Given the description of an element on the screen output the (x, y) to click on. 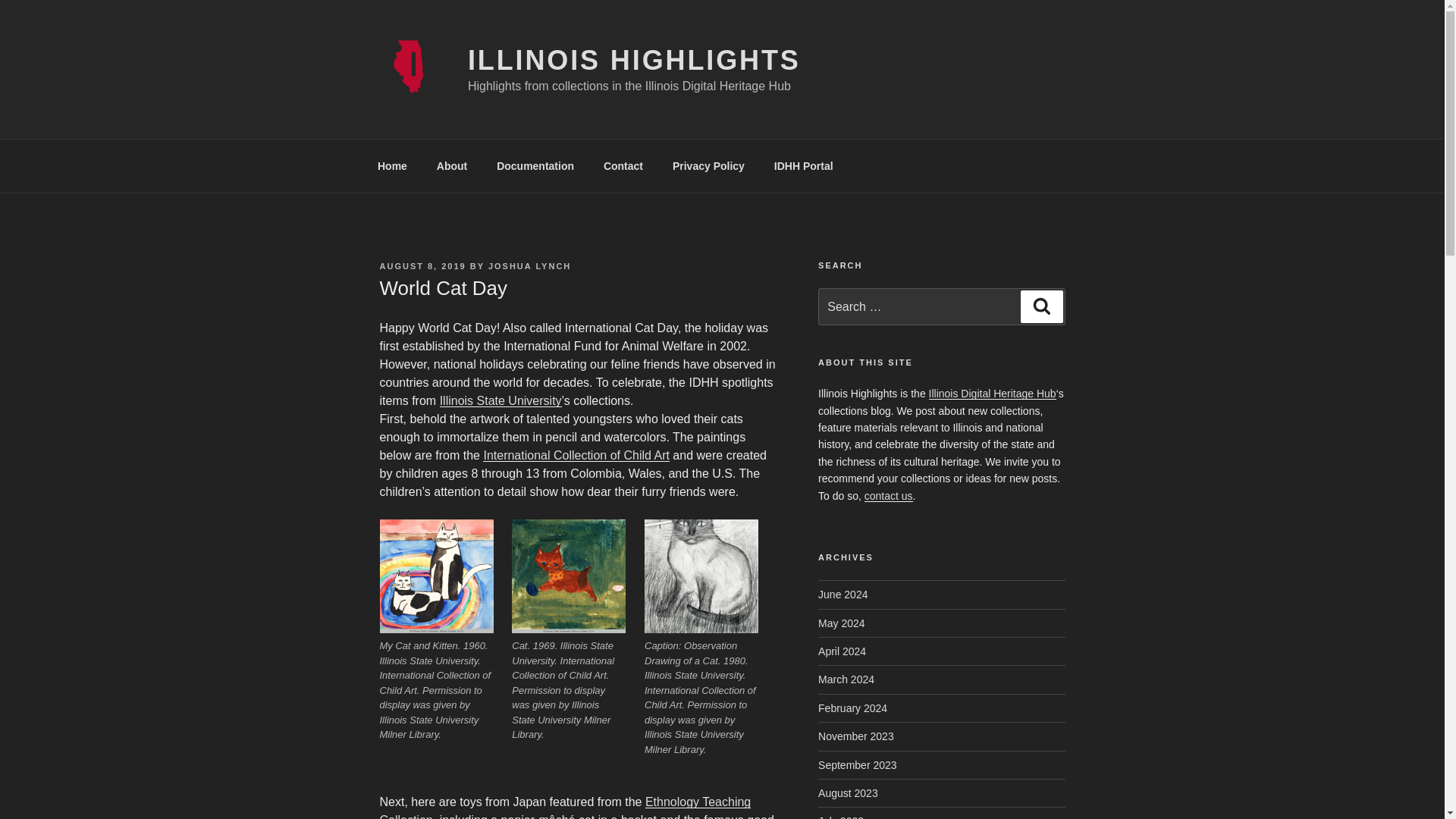
Illinois State University (500, 400)
AUGUST 8, 2019 (421, 266)
Home (392, 165)
About (451, 165)
International Collection of Child Art (575, 454)
Privacy Policy (708, 165)
Search (1041, 306)
JOSHUA LYNCH (528, 266)
June 2024 (842, 594)
contact us (888, 495)
Ethnology Teaching Collection (564, 807)
Contact (622, 165)
ILLINOIS HIGHLIGHTS (633, 60)
IDHH Portal (802, 165)
Documentation (535, 165)
